Given the description of an element on the screen output the (x, y) to click on. 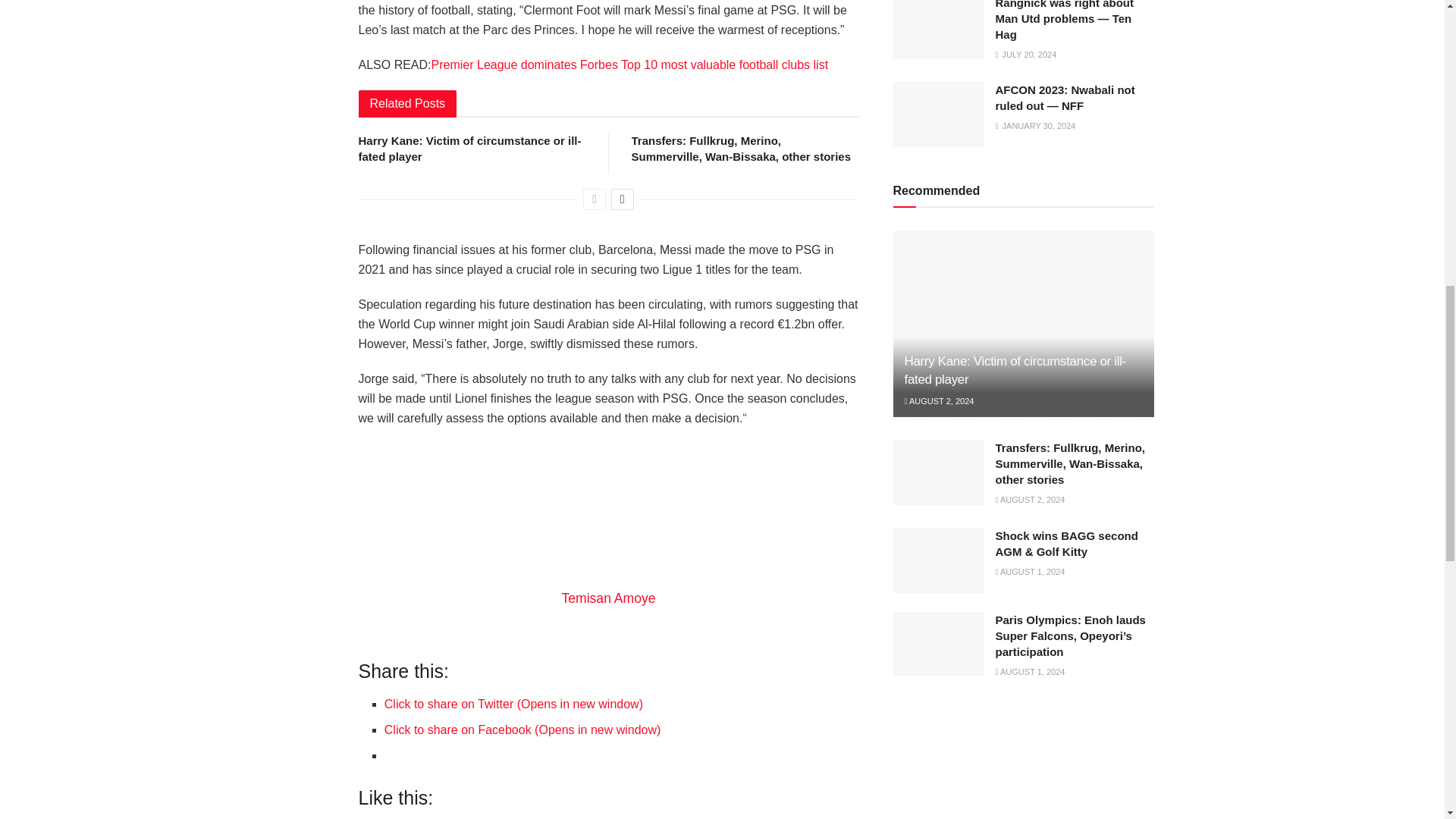
Next (622, 199)
Previous (594, 199)
Click to share on Twitter (513, 703)
Click to share on Facebook (522, 729)
